Given the description of an element on the screen output the (x, y) to click on. 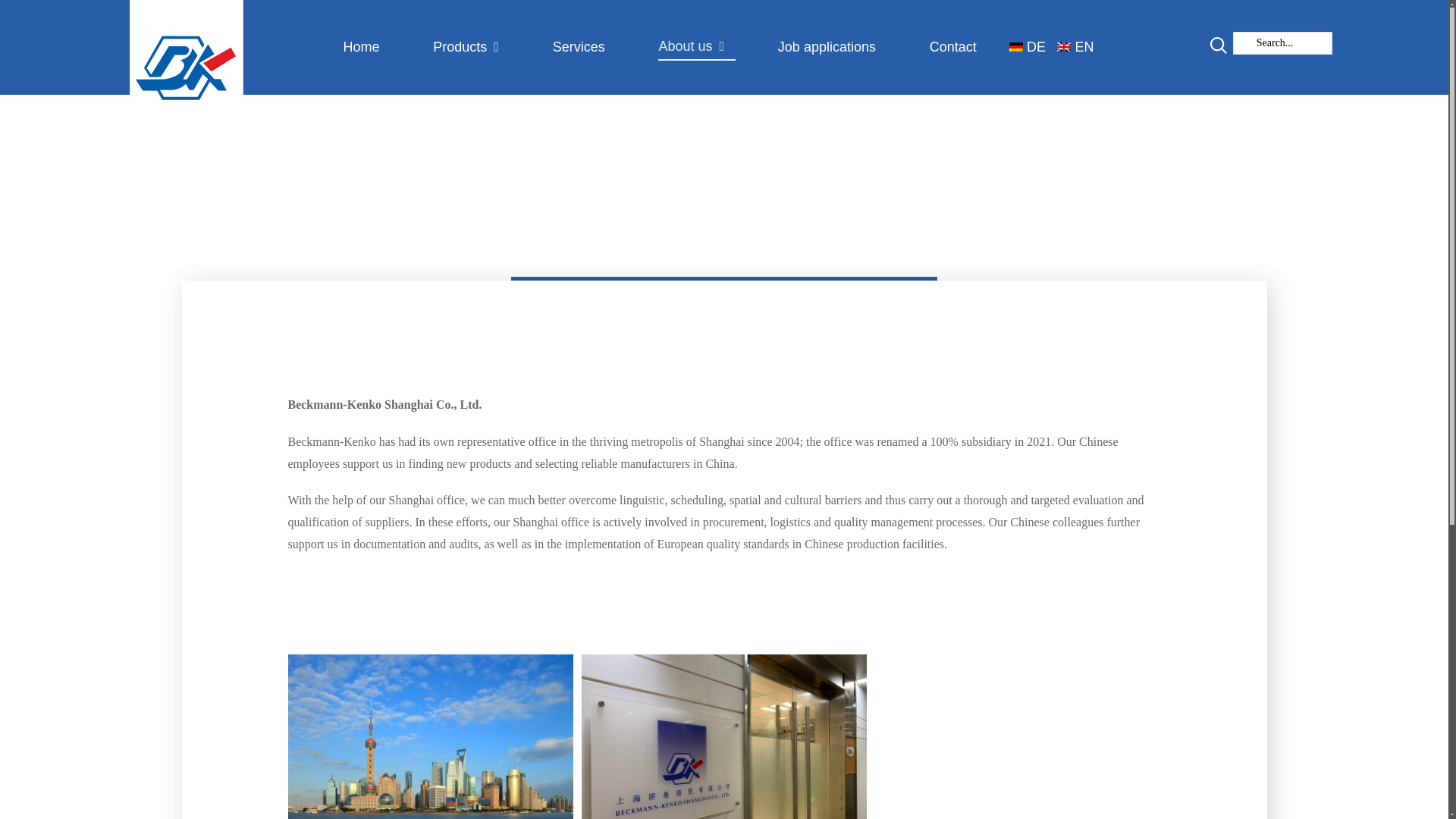
Services (584, 46)
About us (696, 46)
sucheicon (1218, 45)
Products (471, 46)
DE (1033, 46)
EN (1081, 46)
Job applications (831, 46)
Home (367, 46)
Contact (959, 46)
DE (1033, 46)
EN (1081, 46)
shanghai-skyline-iStock-000018148822 (430, 736)
